Given the description of an element on the screen output the (x, y) to click on. 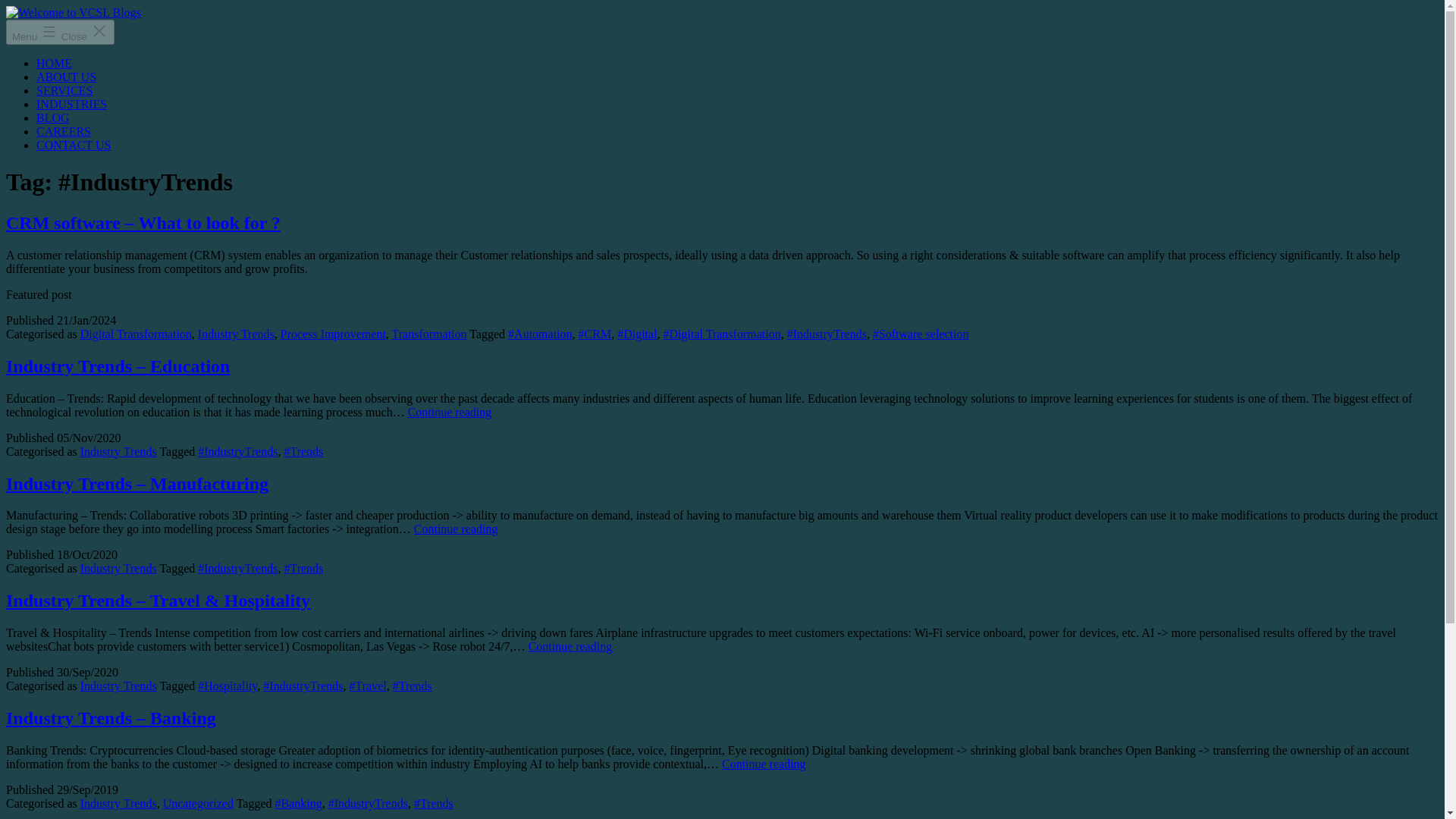
Industry Trends (118, 685)
INDUSTRIES (71, 103)
SERVICES (64, 90)
Transformation (429, 333)
HOME (53, 62)
CONTACT US (73, 144)
Industry Trends (118, 451)
BLOG (52, 117)
Menu Close (60, 32)
